Given the description of an element on the screen output the (x, y) to click on. 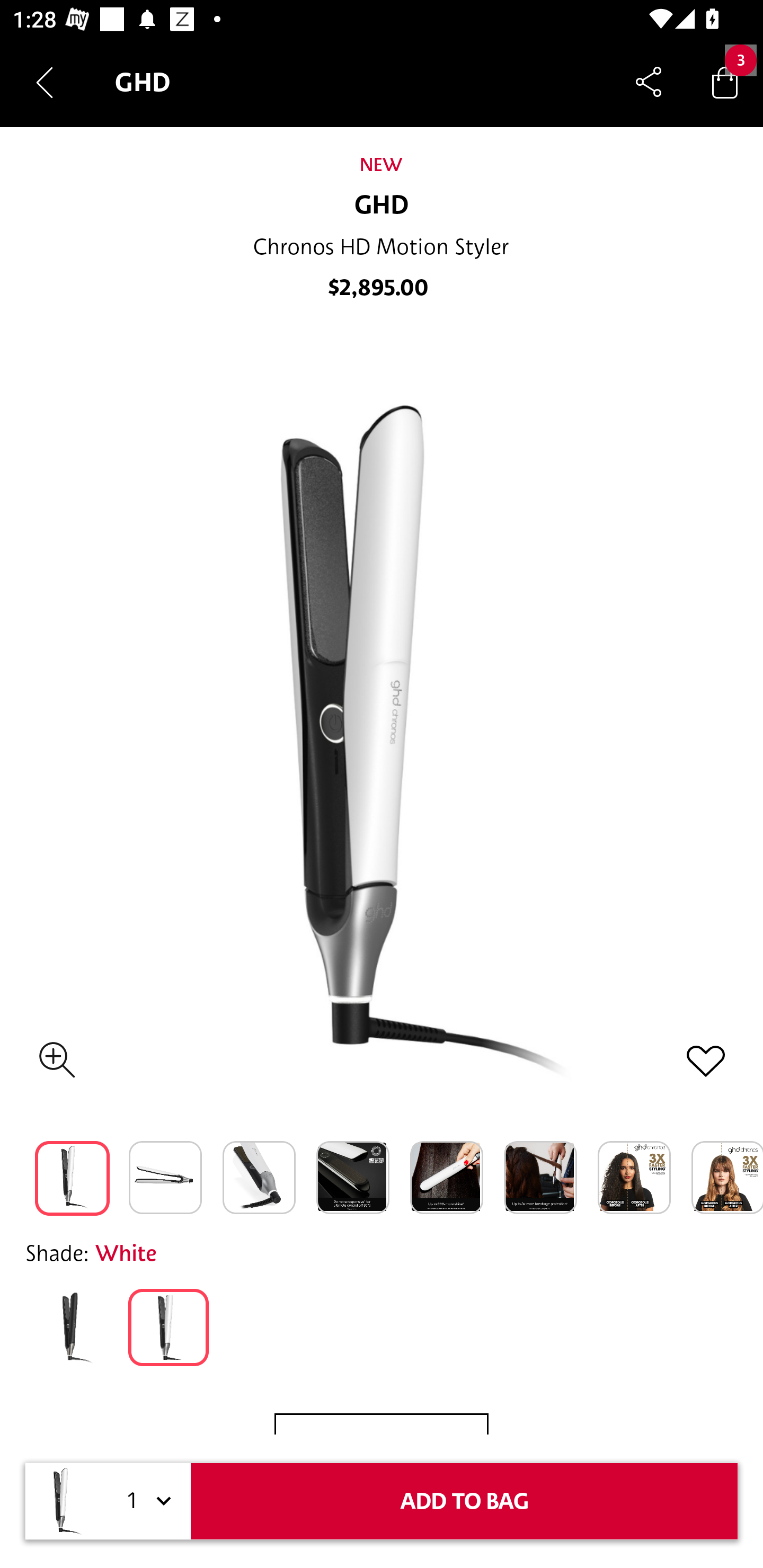
Navigate up (44, 82)
Share (648, 81)
Bag (724, 81)
GHD (381, 205)
1 (145, 1500)
ADD TO BAG (463, 1500)
